Given the description of an element on the screen output the (x, y) to click on. 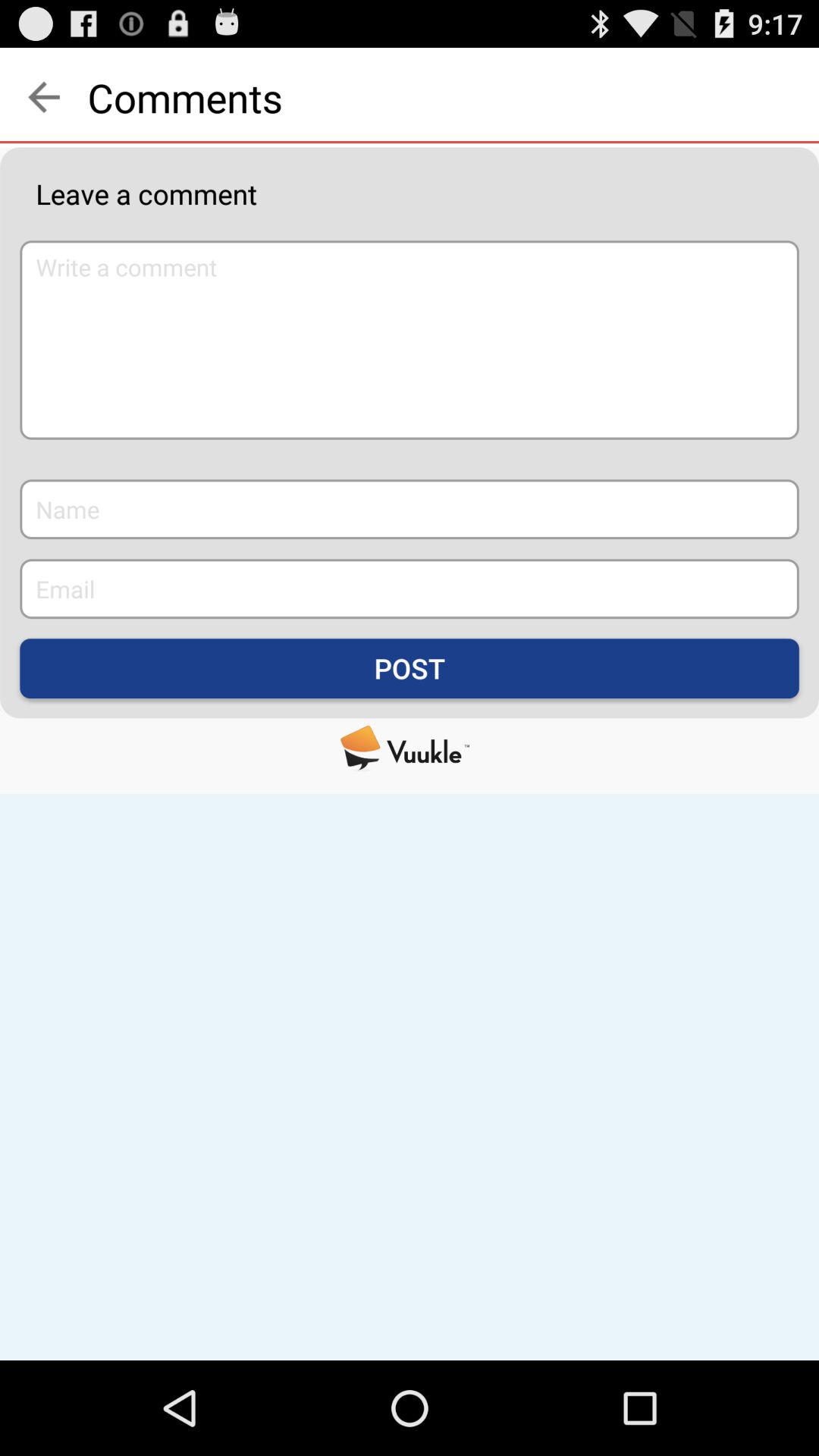
enter the email box (409, 588)
